Given the description of an element on the screen output the (x, y) to click on. 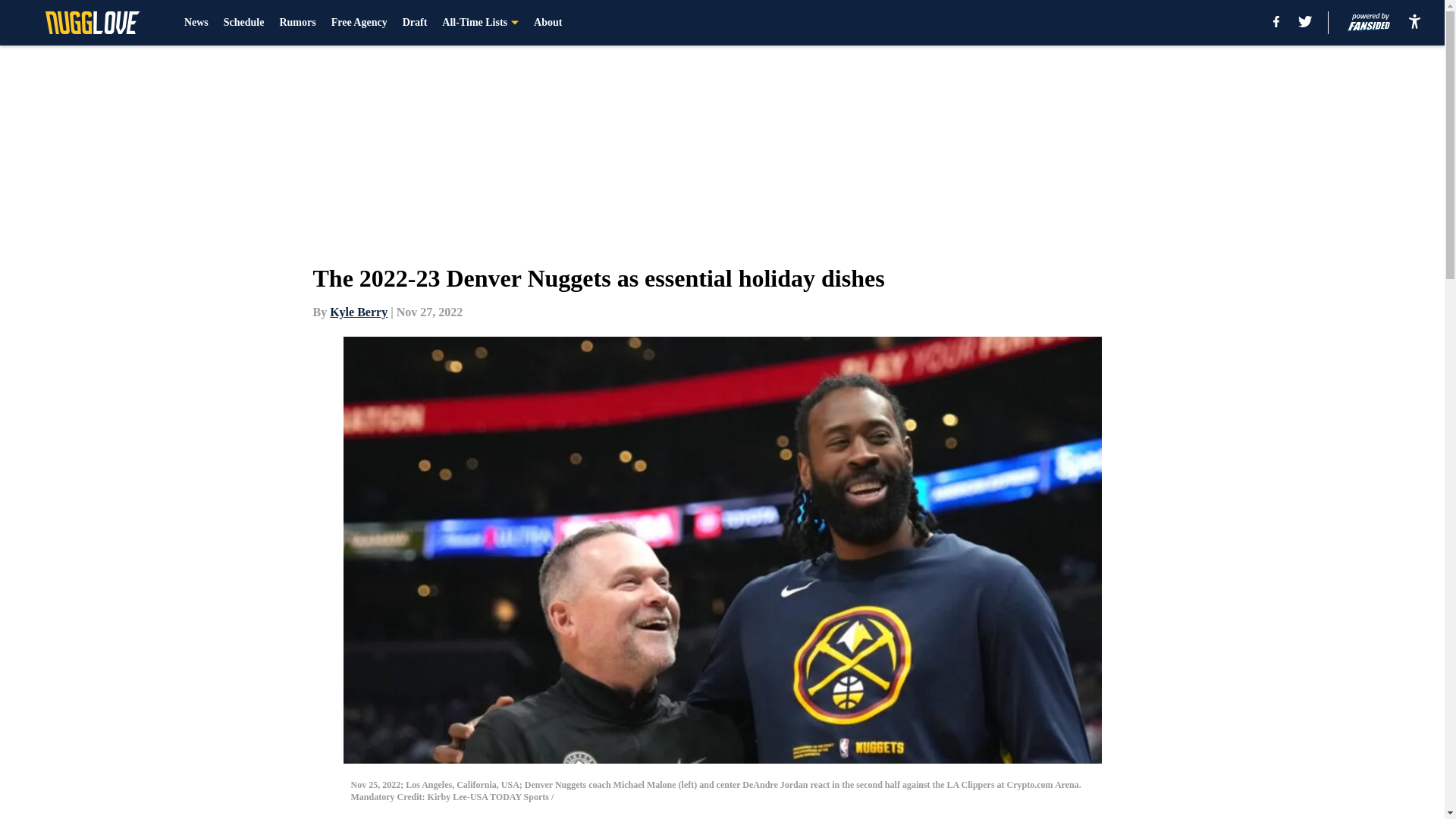
All-Time Lists (480, 22)
About (548, 22)
Rumors (297, 22)
Free Agency (359, 22)
Schedule (244, 22)
Kyle Berry (358, 311)
News (196, 22)
Draft (415, 22)
